Given the description of an element on the screen output the (x, y) to click on. 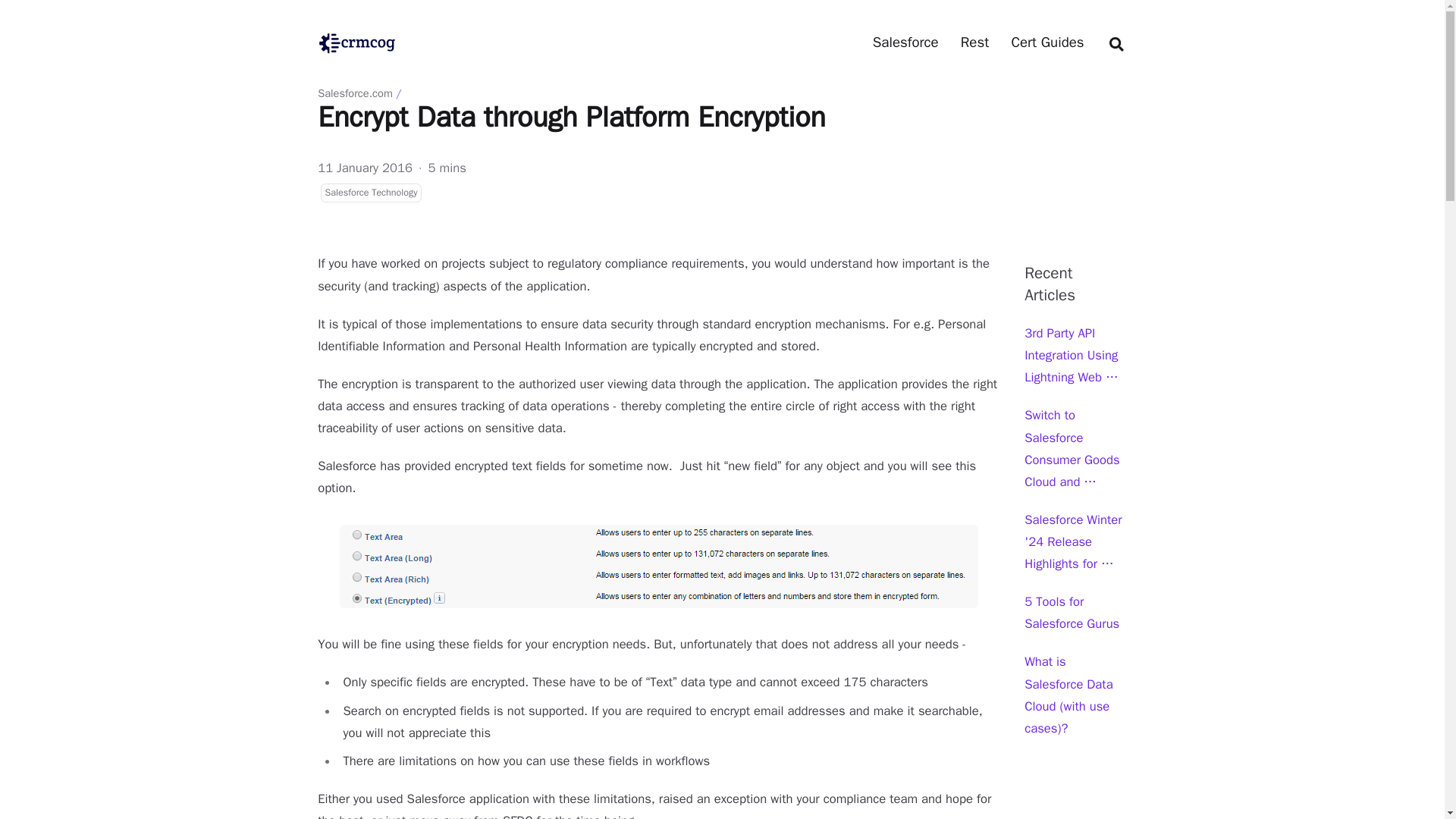
Salesforce.com (905, 42)
Salesforce.com (355, 92)
Posts (974, 42)
Reading time (446, 167)
Salesforce Technology (370, 192)
Salesforce (905, 42)
Rest (974, 42)
